Given the description of an element on the screen output the (x, y) to click on. 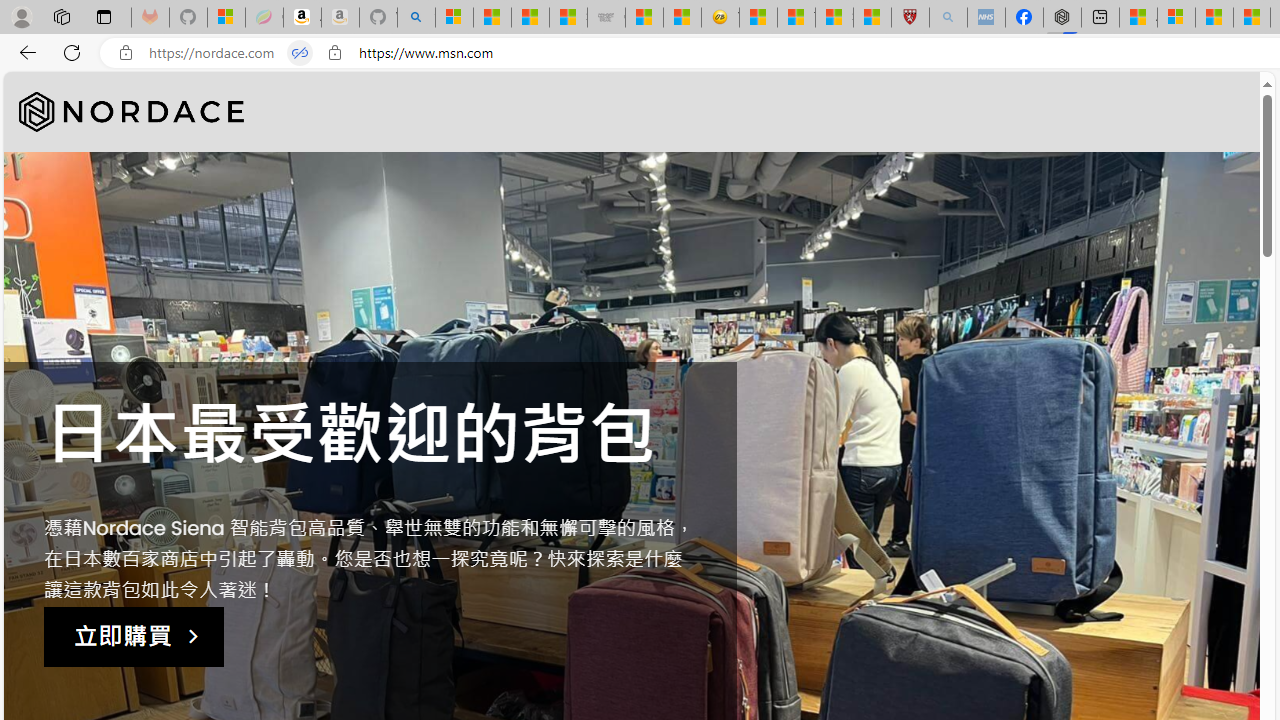
Tabs in split screen (299, 53)
Combat Siege (605, 17)
12 Popular Science Lies that Must be Corrected (871, 17)
Science - MSN (833, 17)
